Given the description of an element on the screen output the (x, y) to click on. 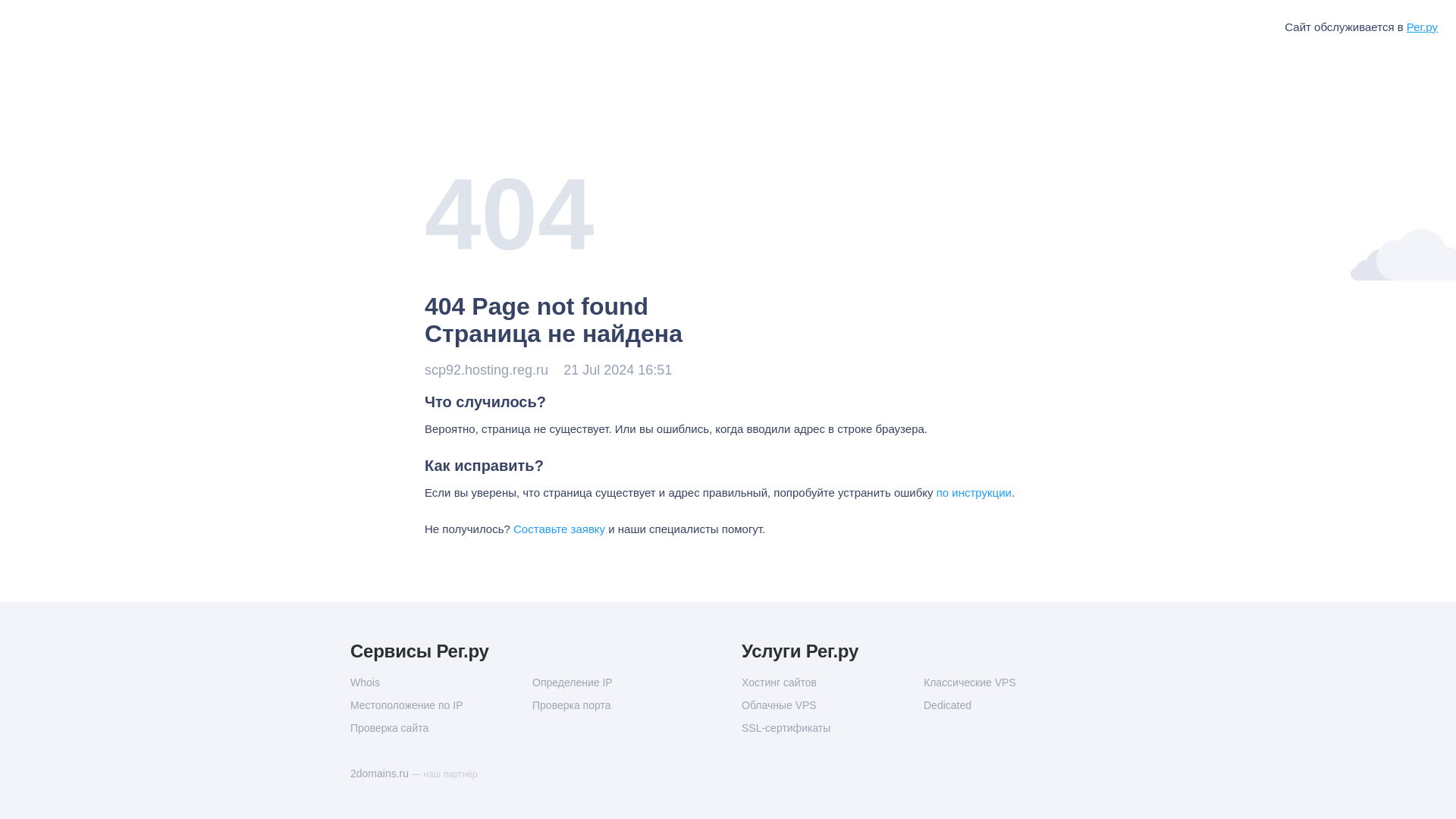
Dedicated (1014, 705)
Whois (441, 682)
2domains.ru (381, 773)
